Given the description of an element on the screen output the (x, y) to click on. 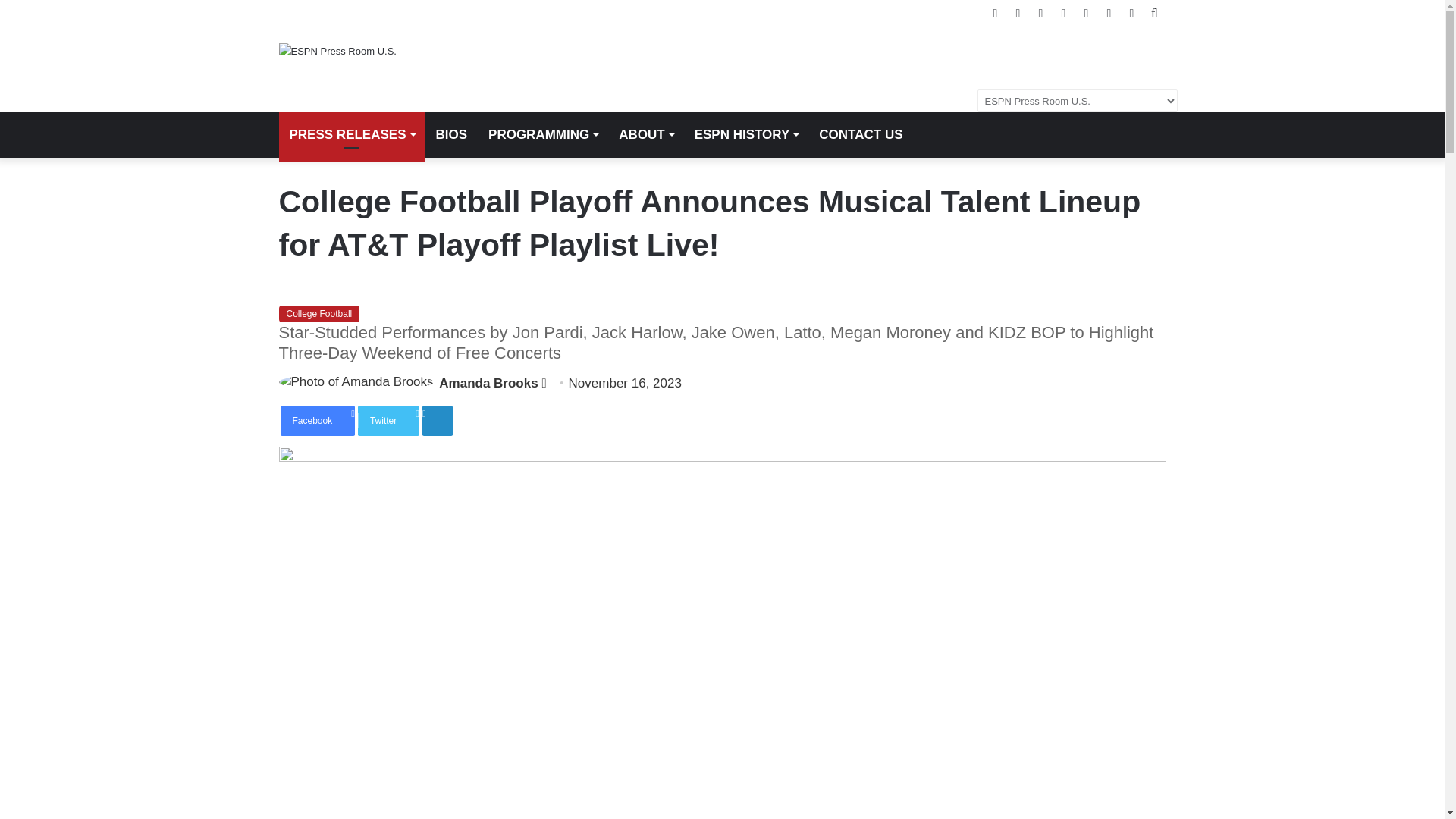
Amanda Brooks (488, 382)
LinkedIn (437, 420)
ESPN HISTORY (746, 135)
Twitter (388, 420)
CONTACT US (860, 135)
ESPN Press Room U.S. (337, 50)
BIOS (451, 135)
Facebook (318, 420)
PROGRAMMING (542, 135)
College Football (319, 313)
